Given the description of an element on the screen output the (x, y) to click on. 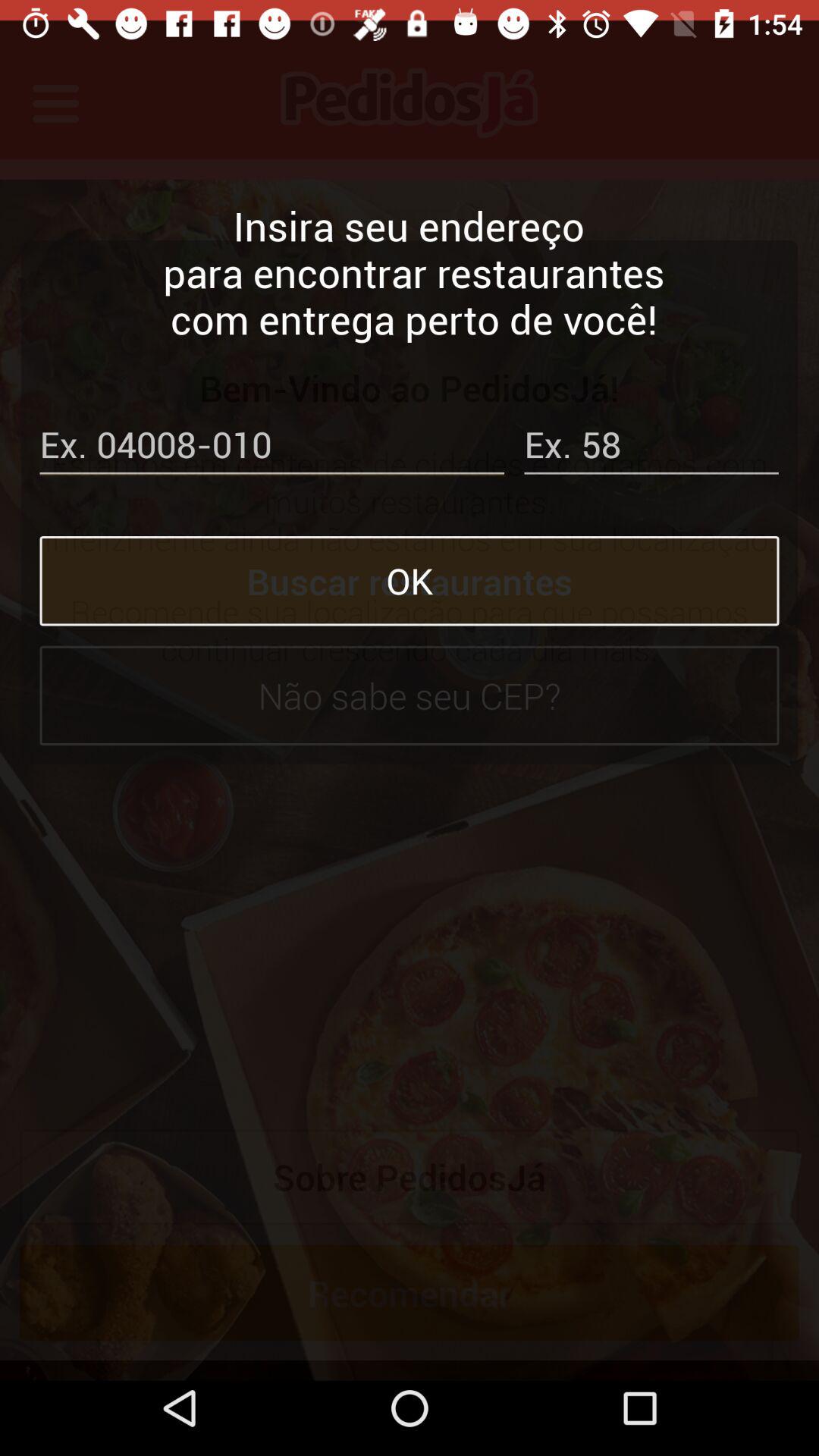
telephone number field (271, 427)
